Given the description of an element on the screen output the (x, y) to click on. 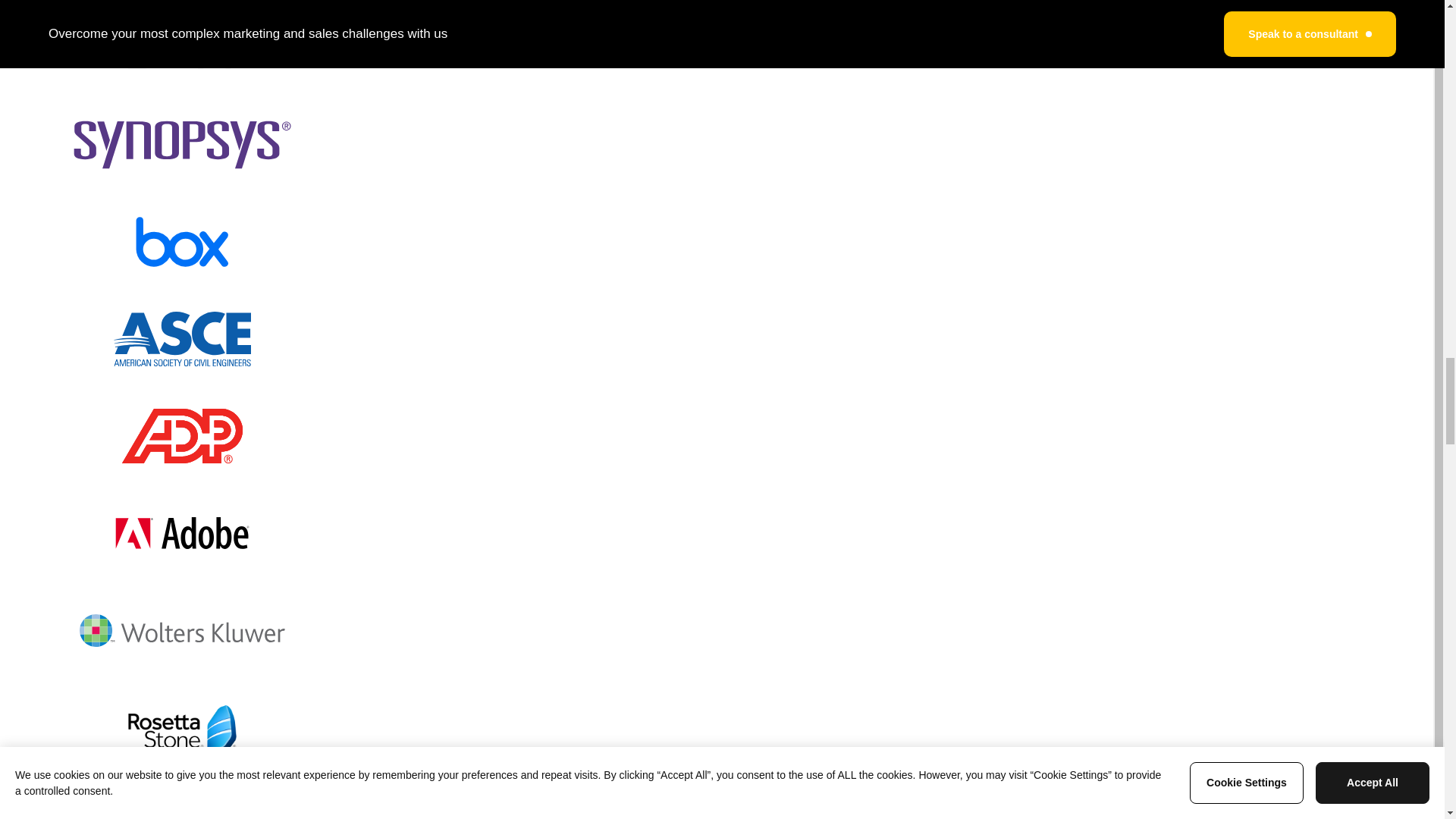
4 (755, 798)
2 (700, 798)
1 (673, 798)
3 (727, 798)
